Given the description of an element on the screen output the (x, y) to click on. 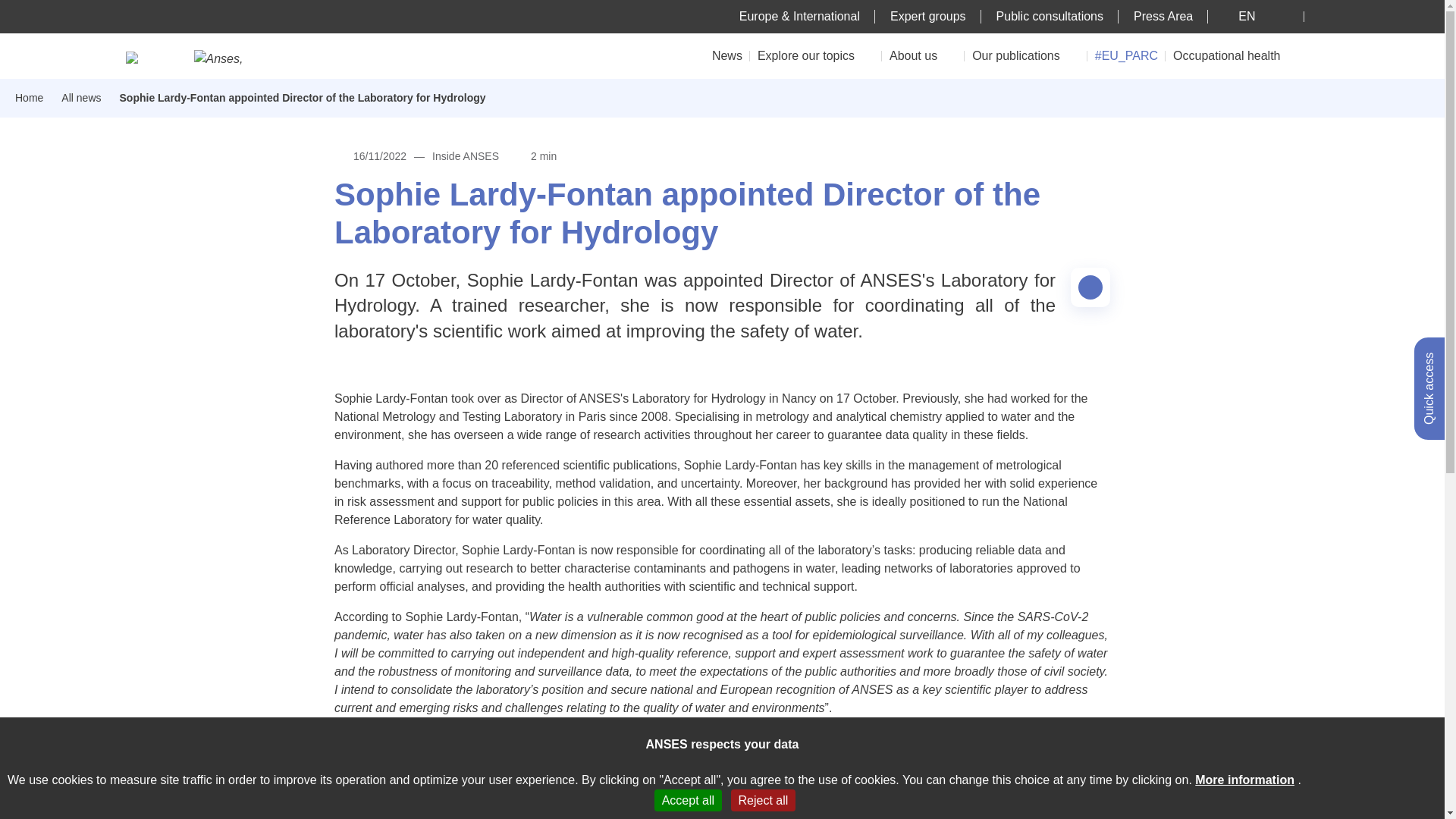
News (726, 55)
Anses, back to home (226, 58)
Expert groups (927, 15)
Share (1090, 287)
Explore our topics (816, 55)
EN (1255, 16)
About us (922, 55)
Press Area (1163, 15)
Public consultations (1049, 15)
